Given the description of an element on the screen output the (x, y) to click on. 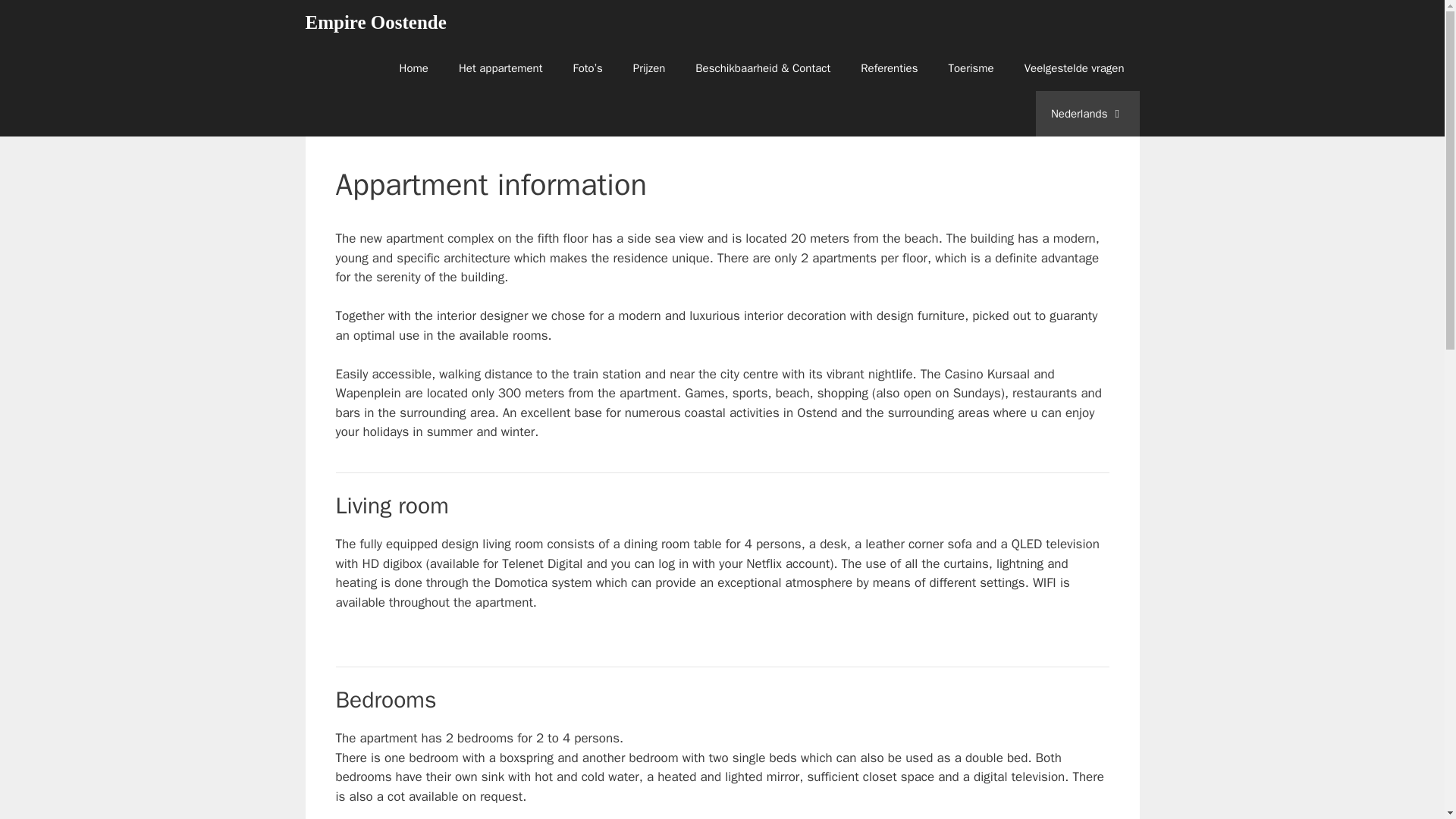
Home (414, 67)
Empire Oostende (374, 22)
Het appartement (500, 67)
Veelgestelde vragen (1074, 67)
Nederlands (1087, 113)
Toerisme (971, 67)
Referenties (889, 67)
Prijzen (649, 67)
